Given the description of an element on the screen output the (x, y) to click on. 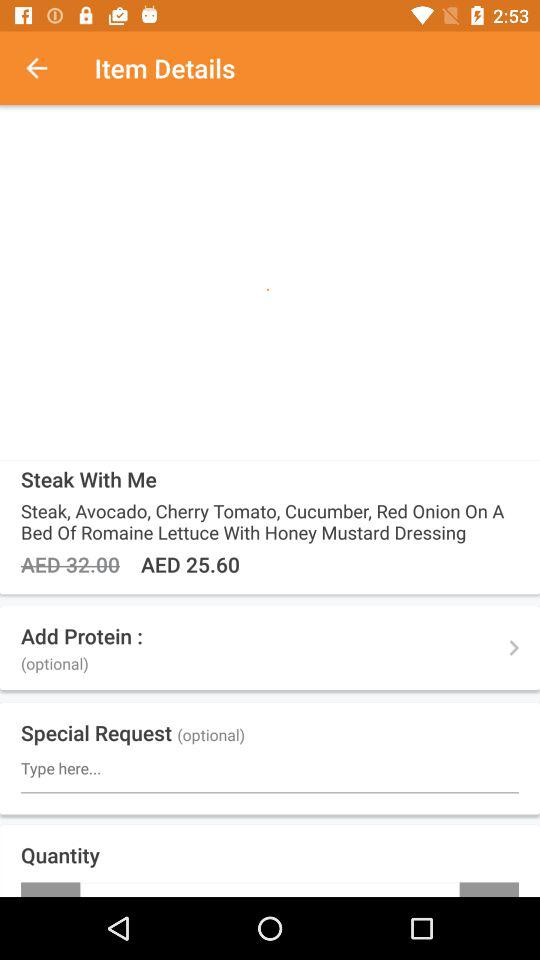
click the item next to item details (47, 68)
